Given the description of an element on the screen output the (x, y) to click on. 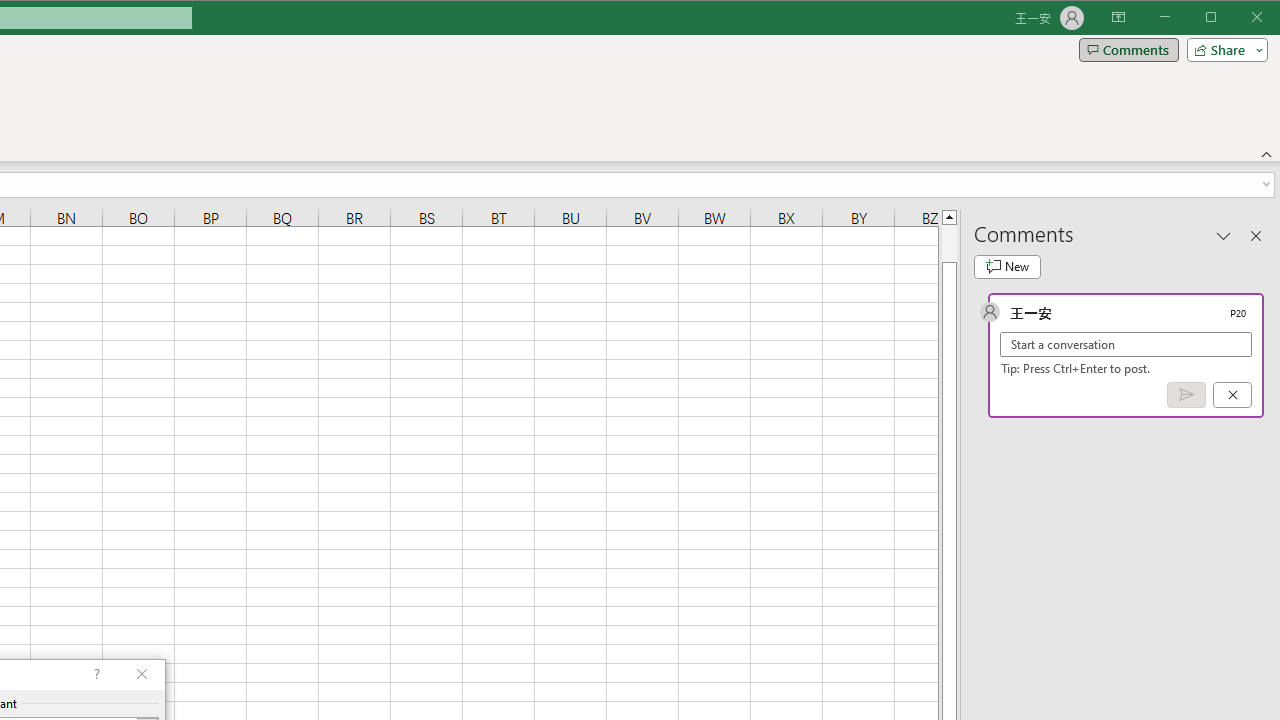
Close (1261, 18)
Collapse the Ribbon (1267, 154)
Comments (1128, 49)
Page up (948, 243)
Close pane (1256, 235)
New comment (1007, 266)
Task Pane Options (1224, 235)
Maximize (1239, 18)
Post comment (Ctrl + Enter) (1186, 395)
Minimize (1217, 18)
Start a conversation (1126, 344)
Share (1223, 49)
Ribbon Display Options (1118, 17)
